Given the description of an element on the screen output the (x, y) to click on. 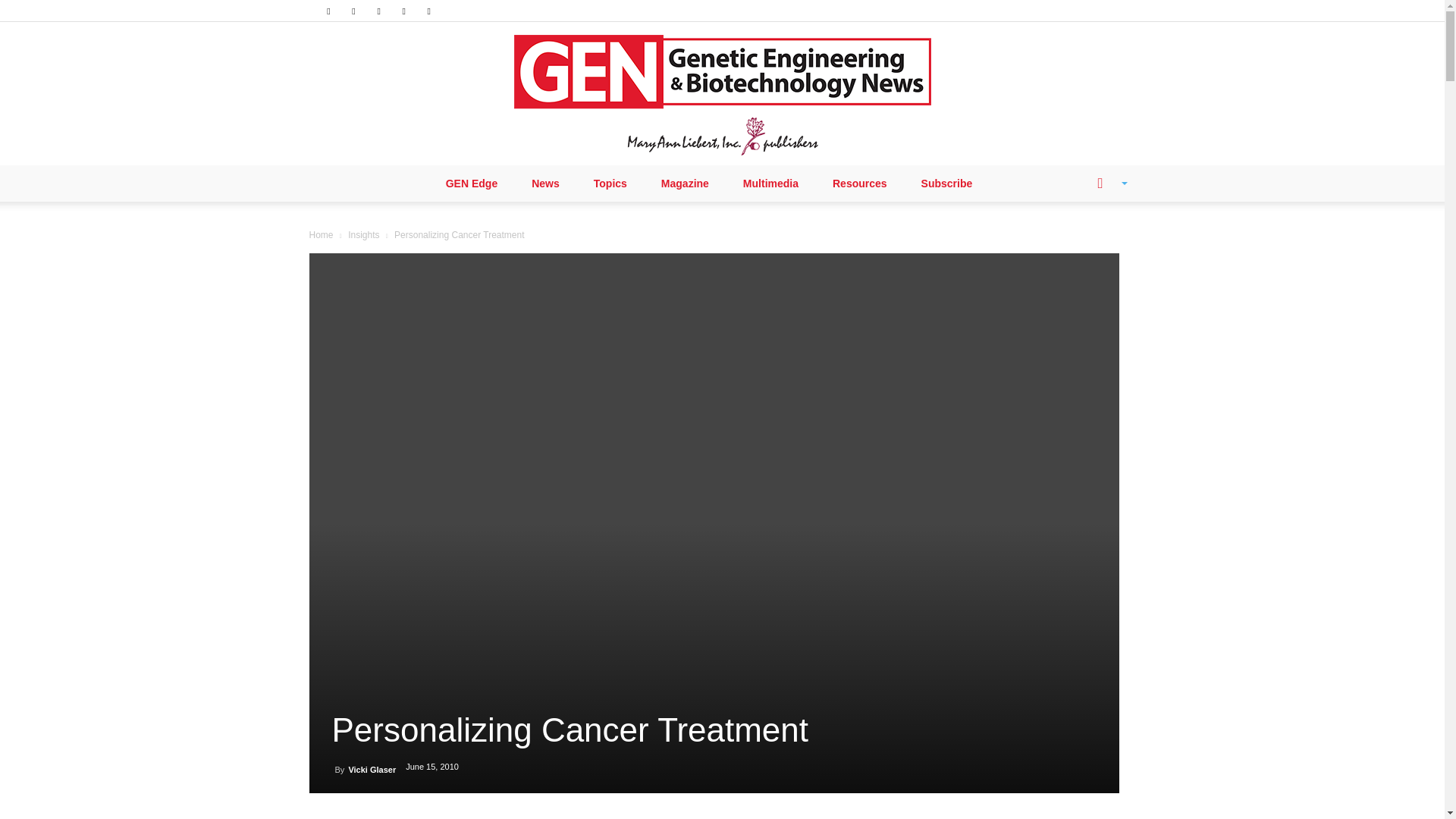
Youtube (429, 10)
Twitter (403, 10)
Posts by Vicki Glaser (371, 768)
Linkedin (353, 10)
RSS (379, 10)
Facebook (328, 10)
View all posts in Insights (362, 235)
